Given the description of an element on the screen output the (x, y) to click on. 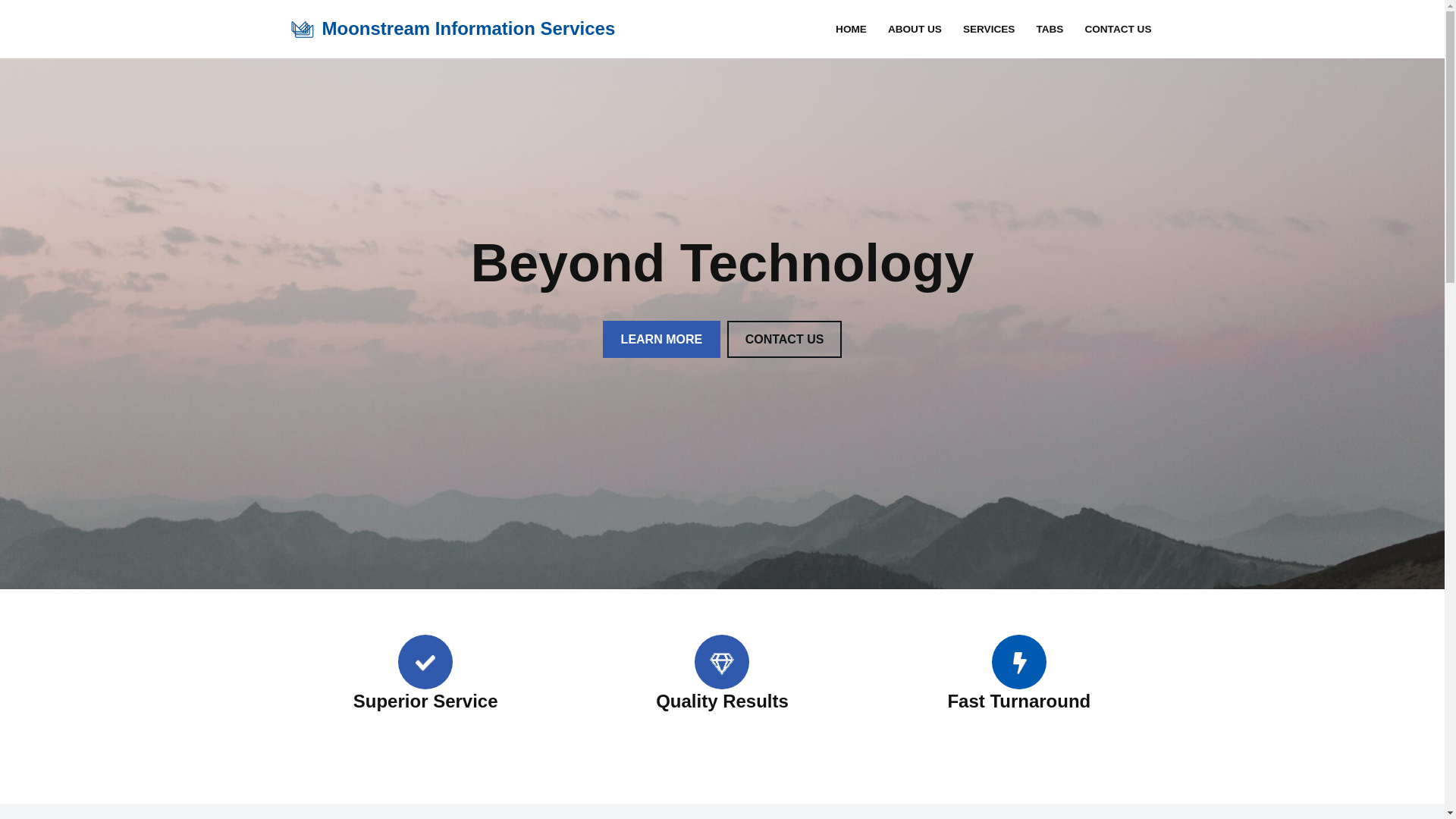
SERVICES Element type: text (989, 28)
LEARN MORE Element type: text (661, 338)
ABOUT US Element type: text (914, 28)
Skip to content Element type: text (11, 31)
TABS Element type: text (1049, 28)
HOME Element type: text (850, 28)
CONTACT US Element type: text (784, 338)
CONTACT US Element type: text (1117, 28)
Moonstream Information Services Element type: text (452, 28)
